Given the description of an element on the screen output the (x, y) to click on. 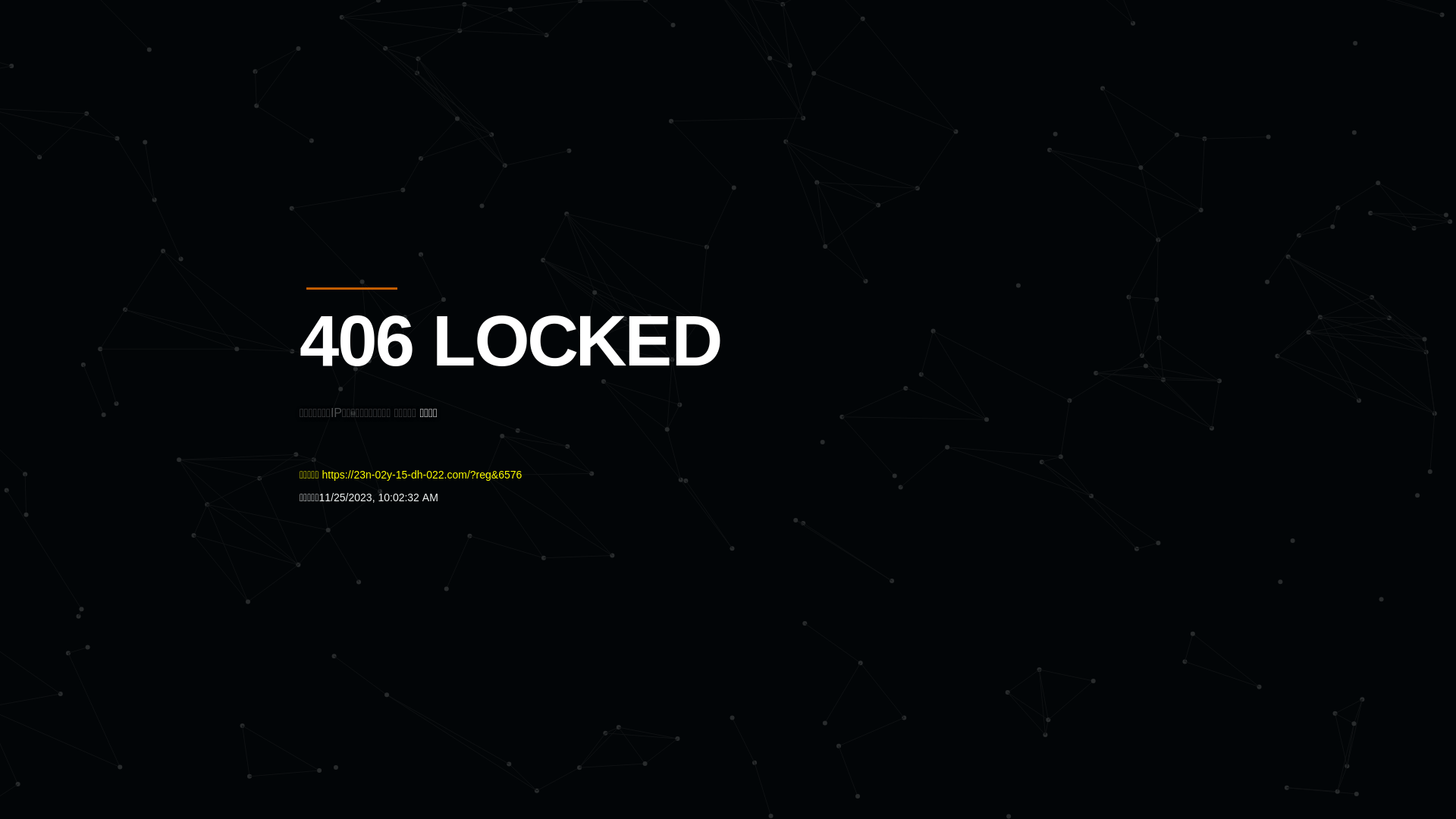
Quatro Element type: text (410, 86)
